Given the description of an element on the screen output the (x, y) to click on. 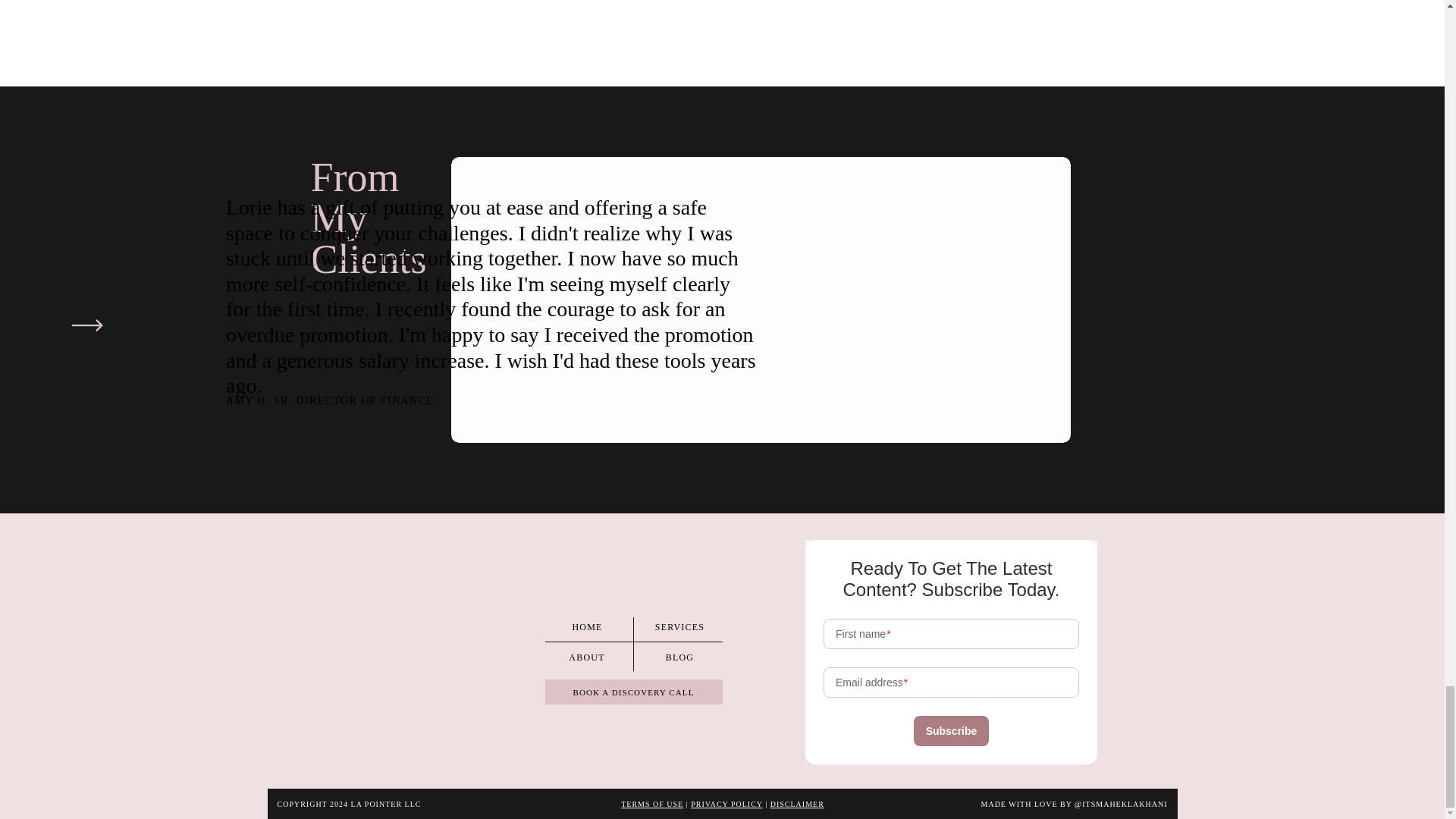
TERMS OF USE (651, 804)
SERVICES (679, 626)
BOOK A DISCOVERY CALL (632, 692)
HOME (586, 626)
PRIVACY POLICY (725, 804)
BLOG (679, 656)
COPYRIGHT 2024 LA POINTER LLC (380, 803)
ABOUT (586, 656)
DISCLAIMER (797, 804)
